Given the description of an element on the screen output the (x, y) to click on. 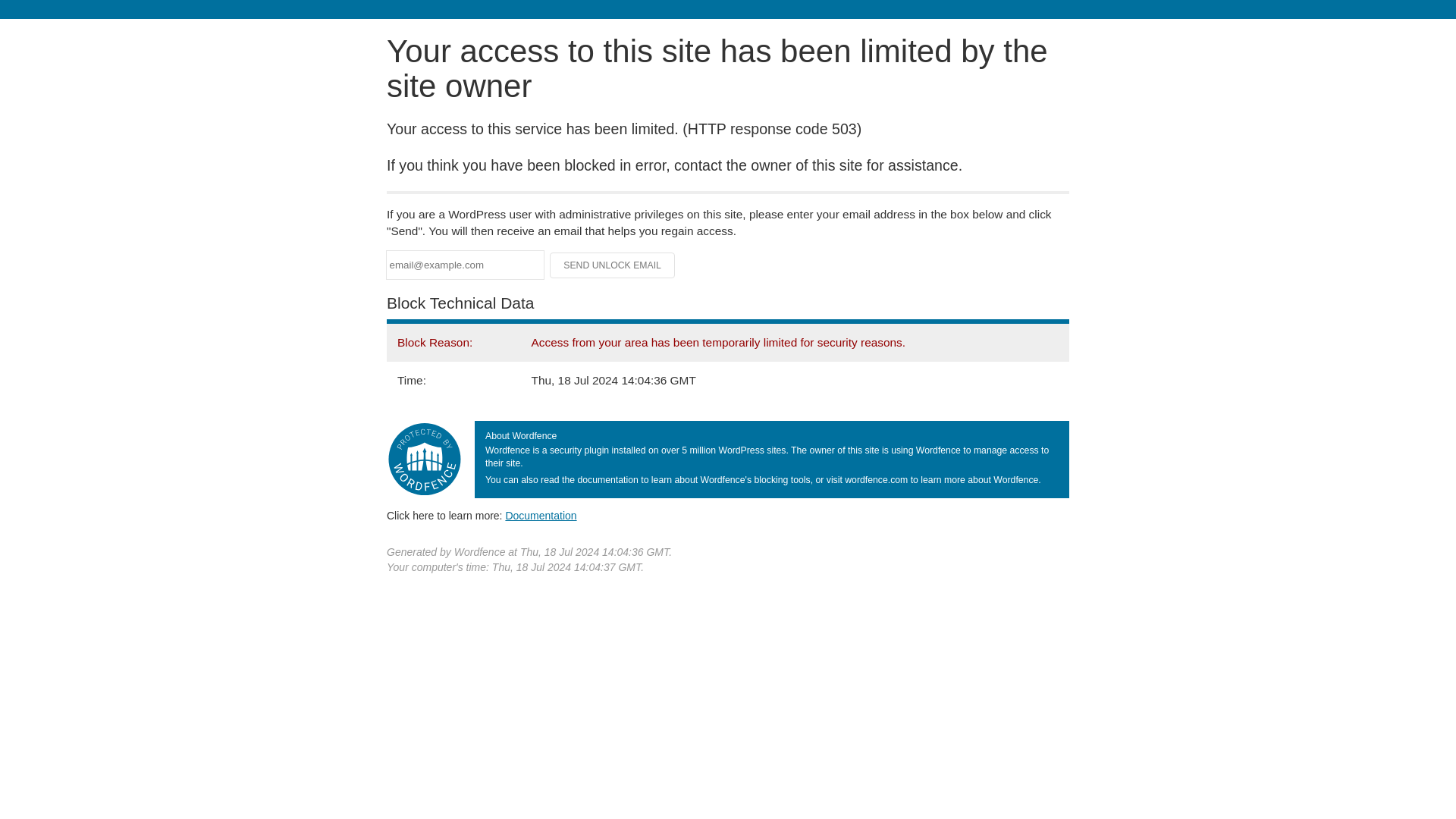
Send Unlock Email (612, 265)
Documentation (540, 515)
Send Unlock Email (612, 265)
